Given the description of an element on the screen output the (x, y) to click on. 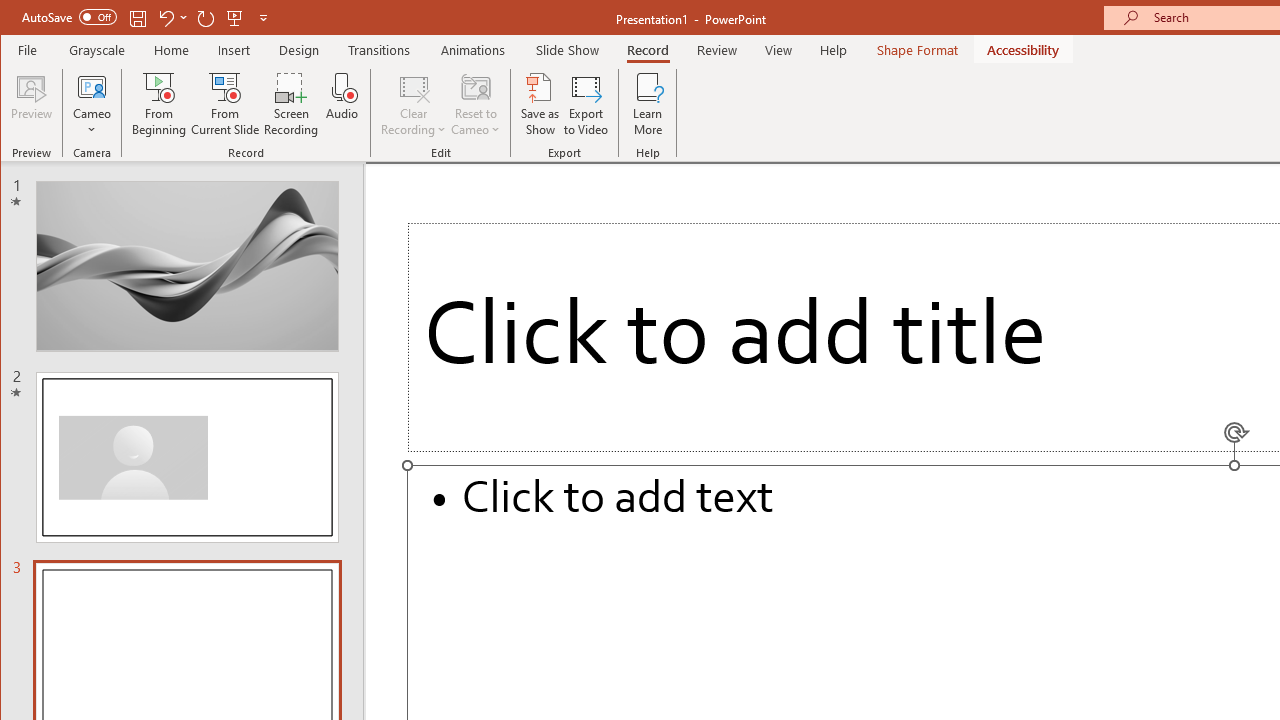
Learn More (648, 104)
Save as Show (539, 104)
From Beginning... (159, 104)
From Current Slide... (225, 104)
Reset to Cameo (476, 104)
